Given the description of an element on the screen output the (x, y) to click on. 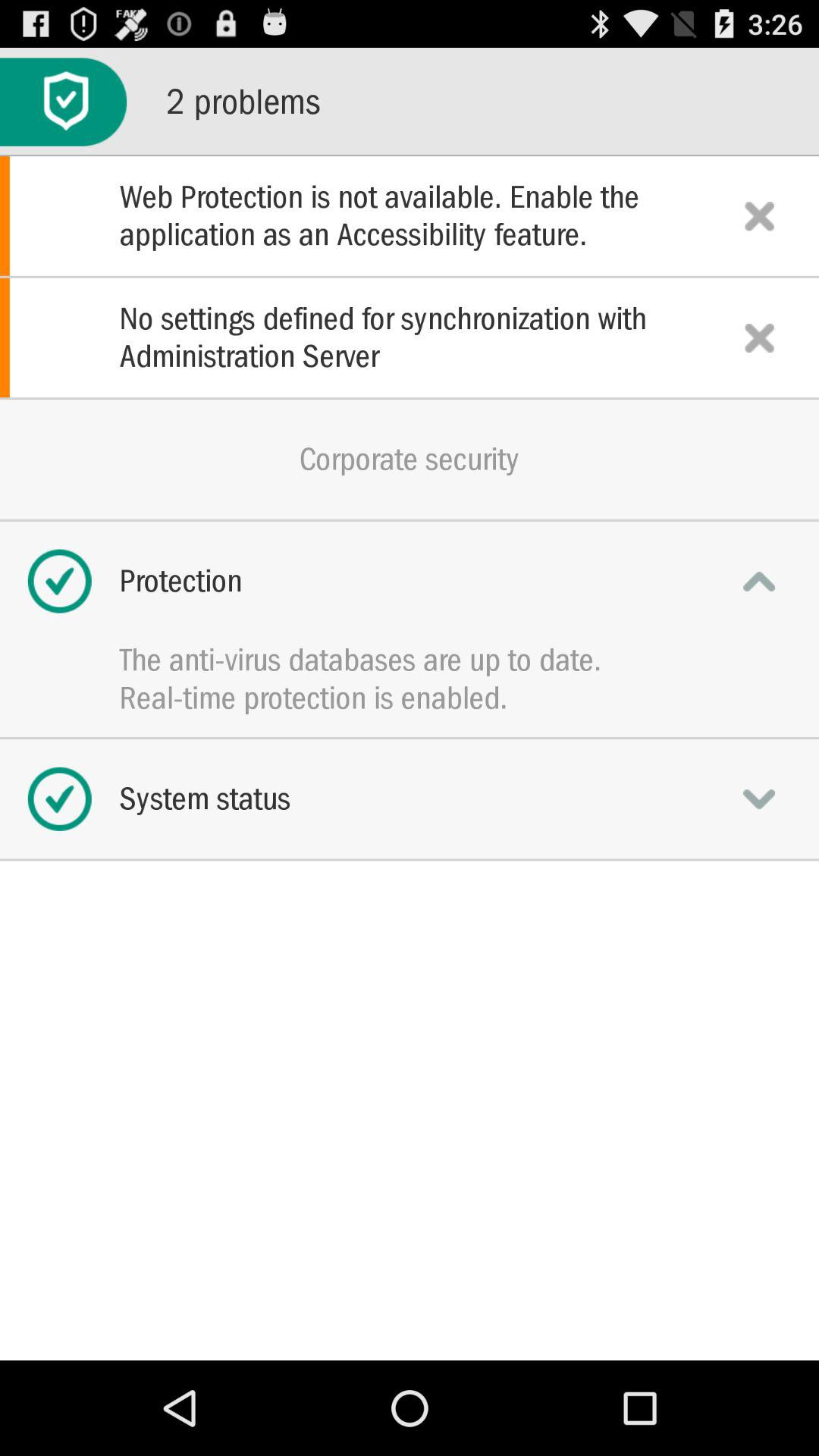
system status options (759, 798)
